Given the description of an element on the screen output the (x, y) to click on. 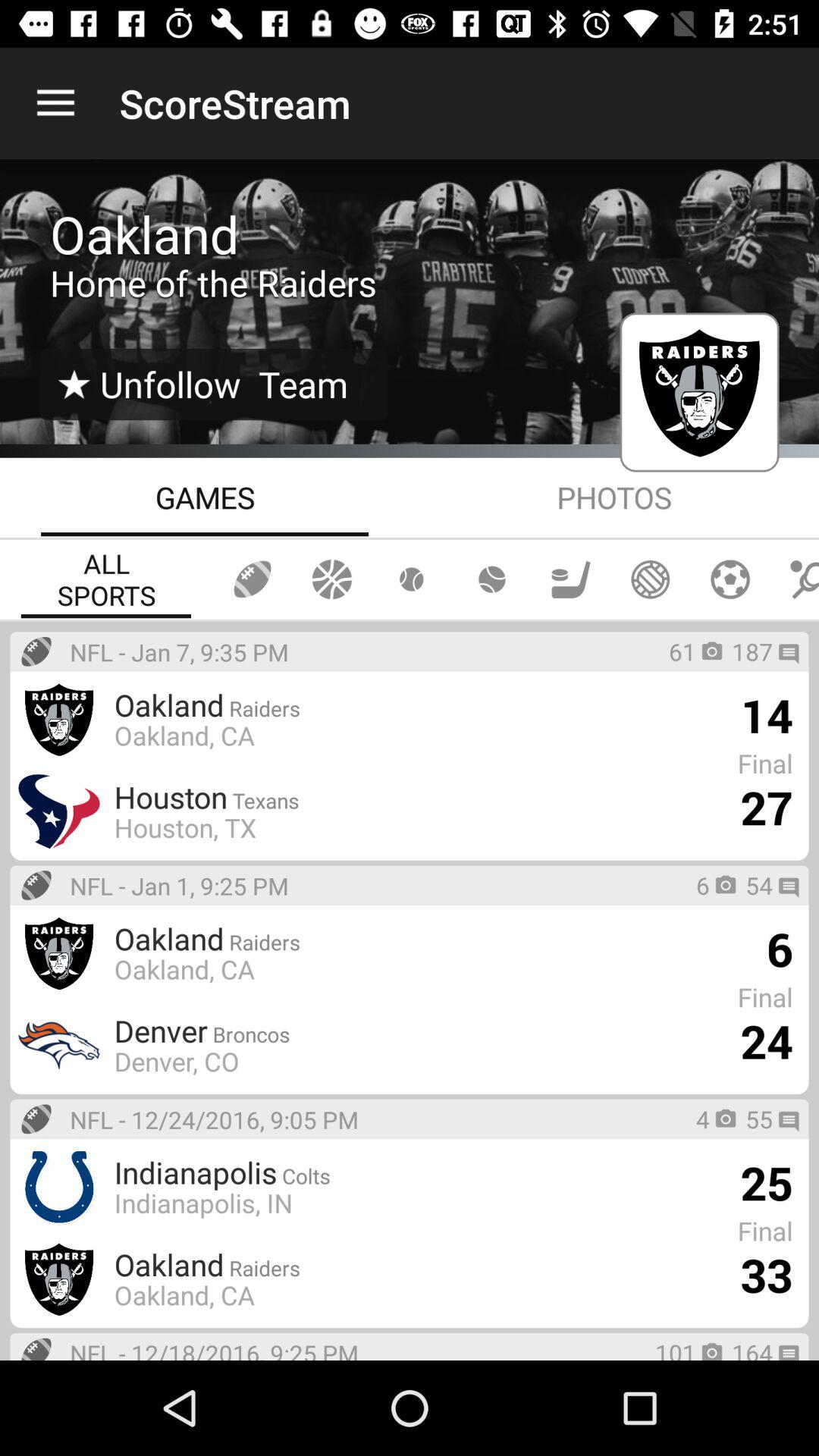
scroll until 187 app (751, 651)
